Given the description of an element on the screen output the (x, y) to click on. 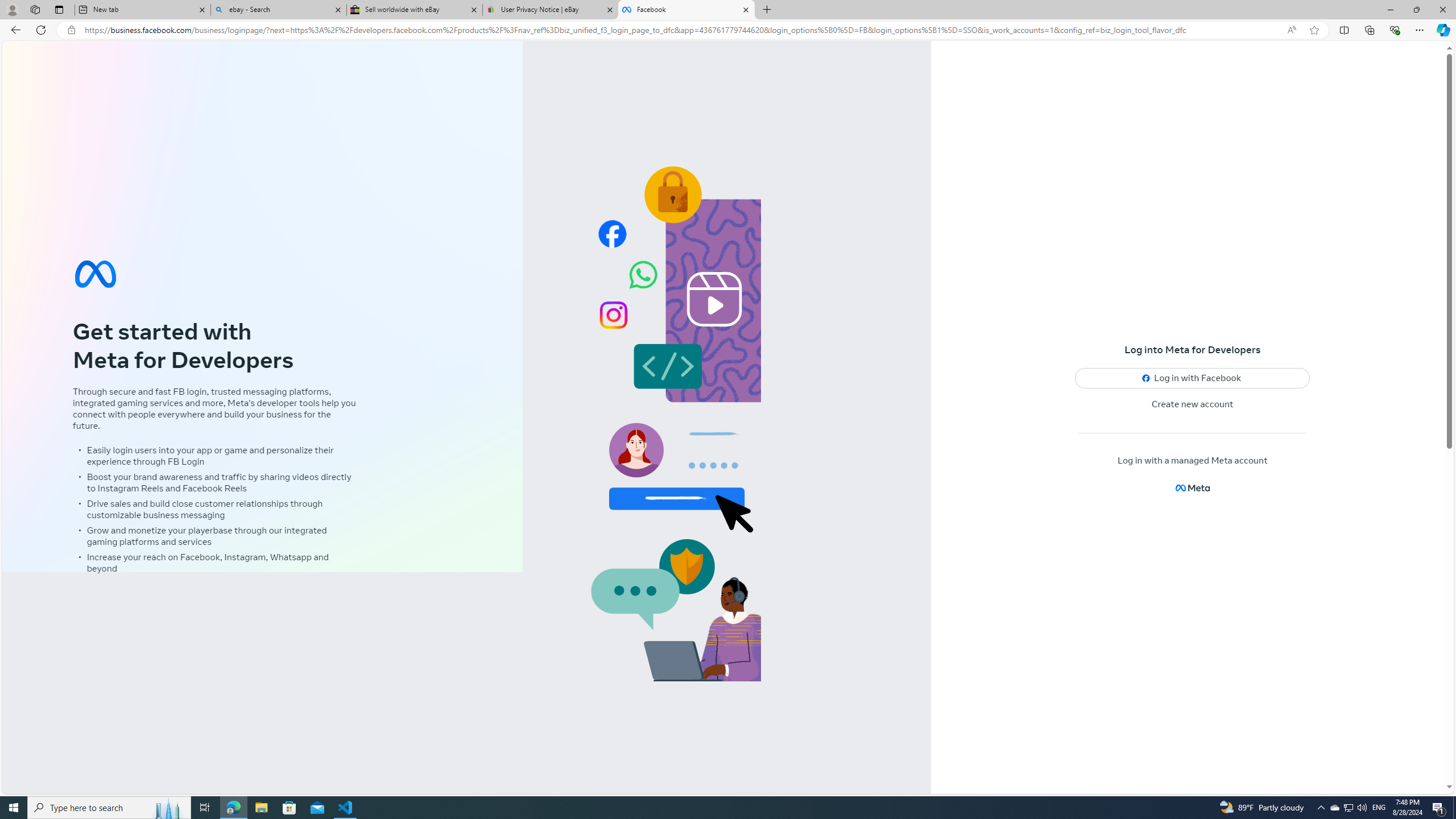
Facebook (685, 9)
Meta symbol (95, 273)
Sell worldwide with eBay (414, 9)
ebay - Search (277, 9)
